Given the description of an element on the screen output the (x, y) to click on. 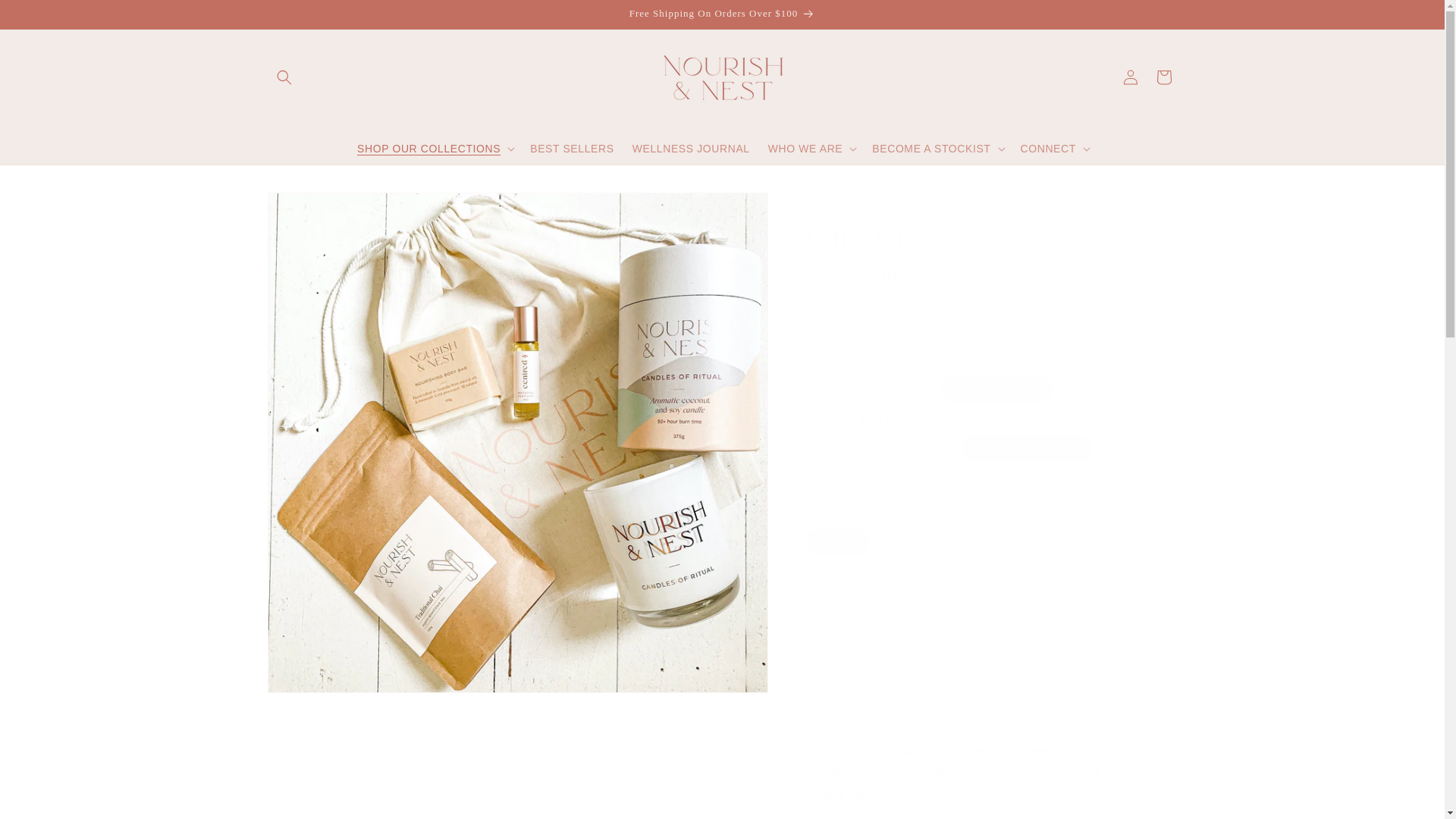
1 (858, 605)
Skip to content (45, 17)
